Given the description of an element on the screen output the (x, y) to click on. 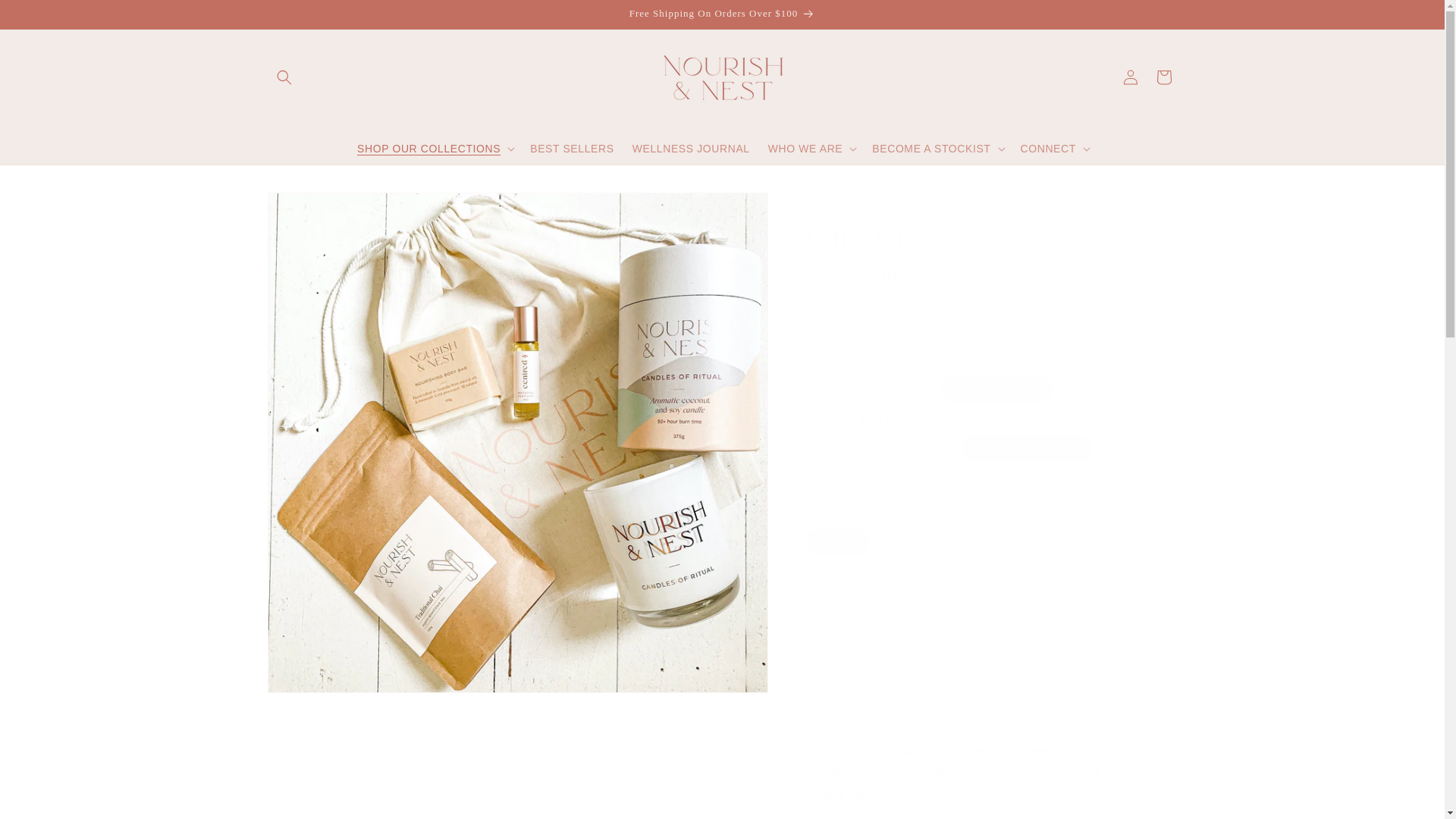
1 (858, 605)
Skip to content (45, 17)
